Given the description of an element on the screen output the (x, y) to click on. 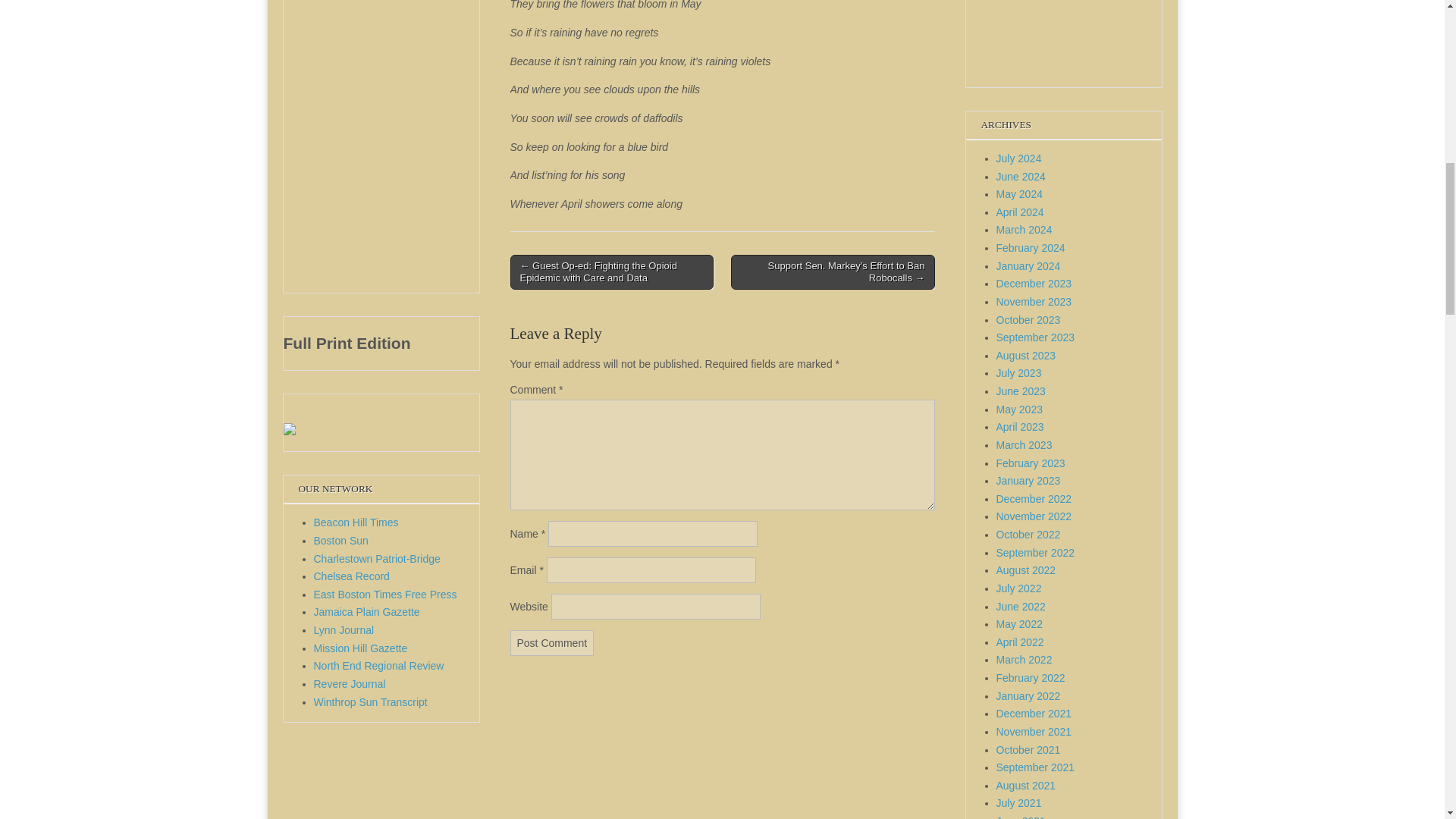
Boston Sun (341, 540)
Lynn Journal (344, 630)
Post Comment (551, 642)
Beacon Hill Times (356, 522)
Charlestown Patriot-Bridge (377, 558)
Chelsea Record (352, 576)
East Boston Times Free Press (385, 594)
Post Comment (551, 642)
Jamaica Plain Gazette (367, 612)
